Given the description of an element on the screen output the (x, y) to click on. 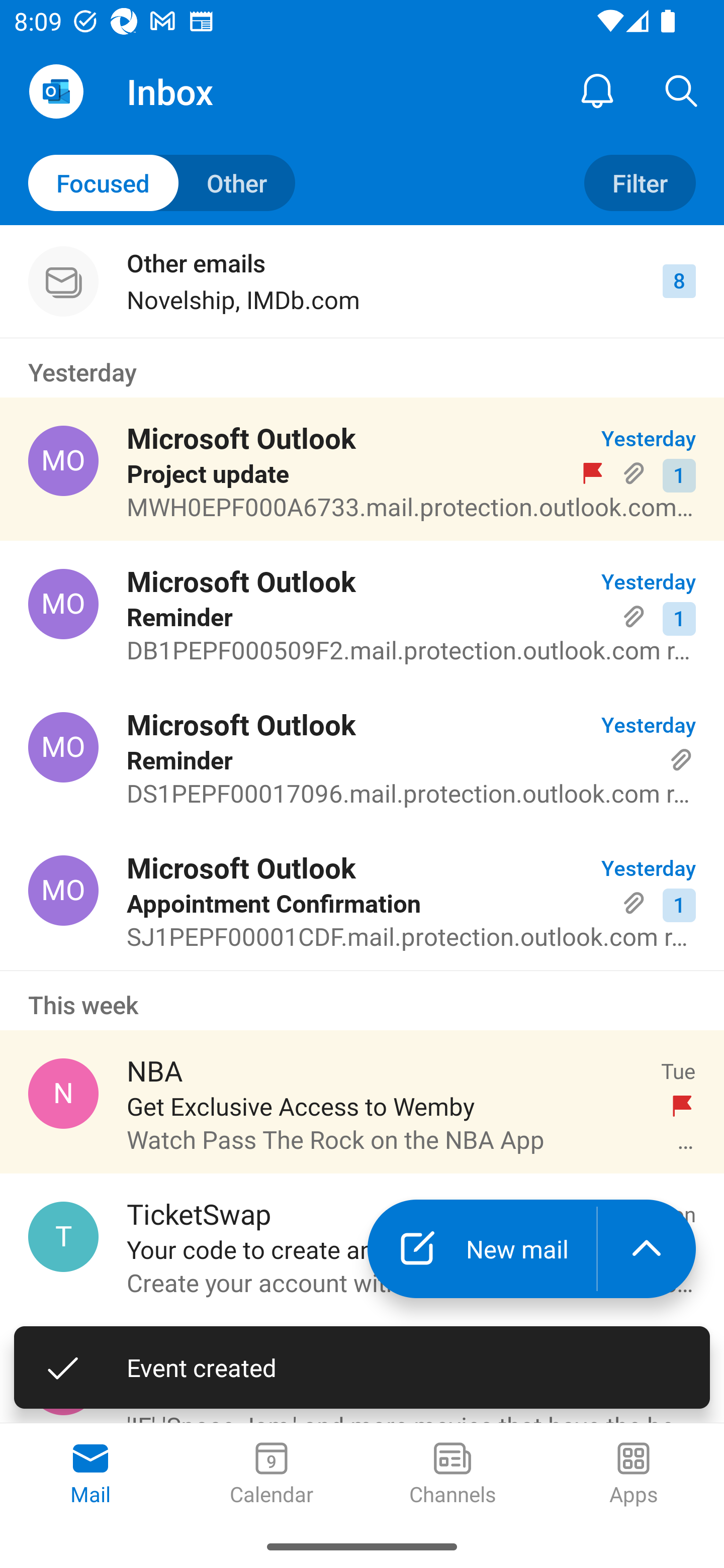
Notification Center (597, 90)
Search, ,  (681, 90)
Open Navigation Drawer (55, 91)
Toggle to other mails (161, 183)
Filter (639, 183)
Other emails Novelship, IMDb.com 8 (362, 281)
NBA, NBA@email.nba.com (63, 1093)
New mail (481, 1248)
launch the extended action menu (646, 1248)
TicketSwap, info@ticketswap.com (63, 1236)
IMDb.com, do-not-reply@imdb.com (63, 1380)
Calendar (271, 1474)
Channels (452, 1474)
Apps (633, 1474)
